Given the description of an element on the screen output the (x, y) to click on. 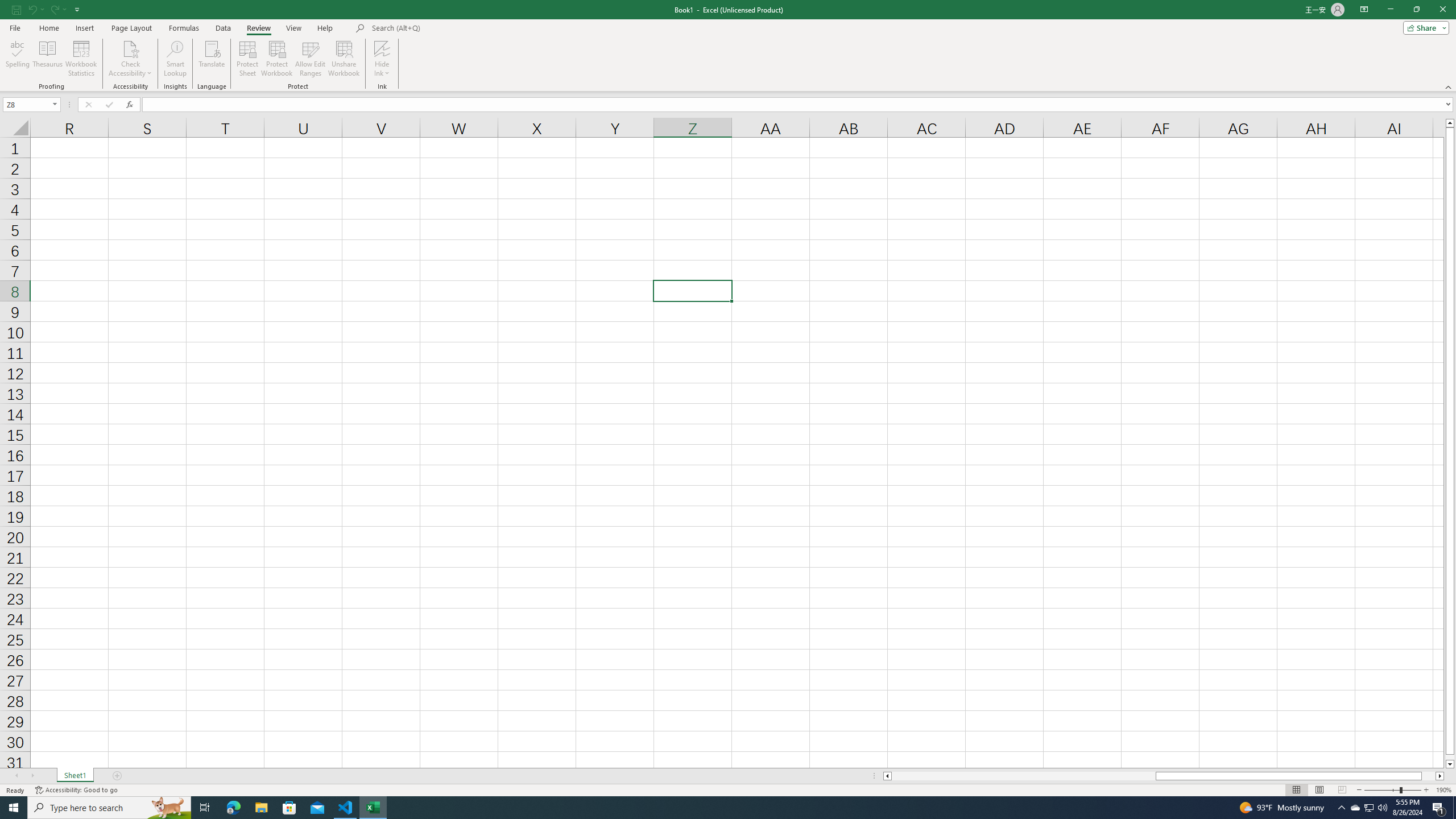
Check Accessibility (129, 58)
Allow Edit Ranges (310, 58)
Unshare Workbook (344, 58)
